Given the description of an element on the screen output the (x, y) to click on. 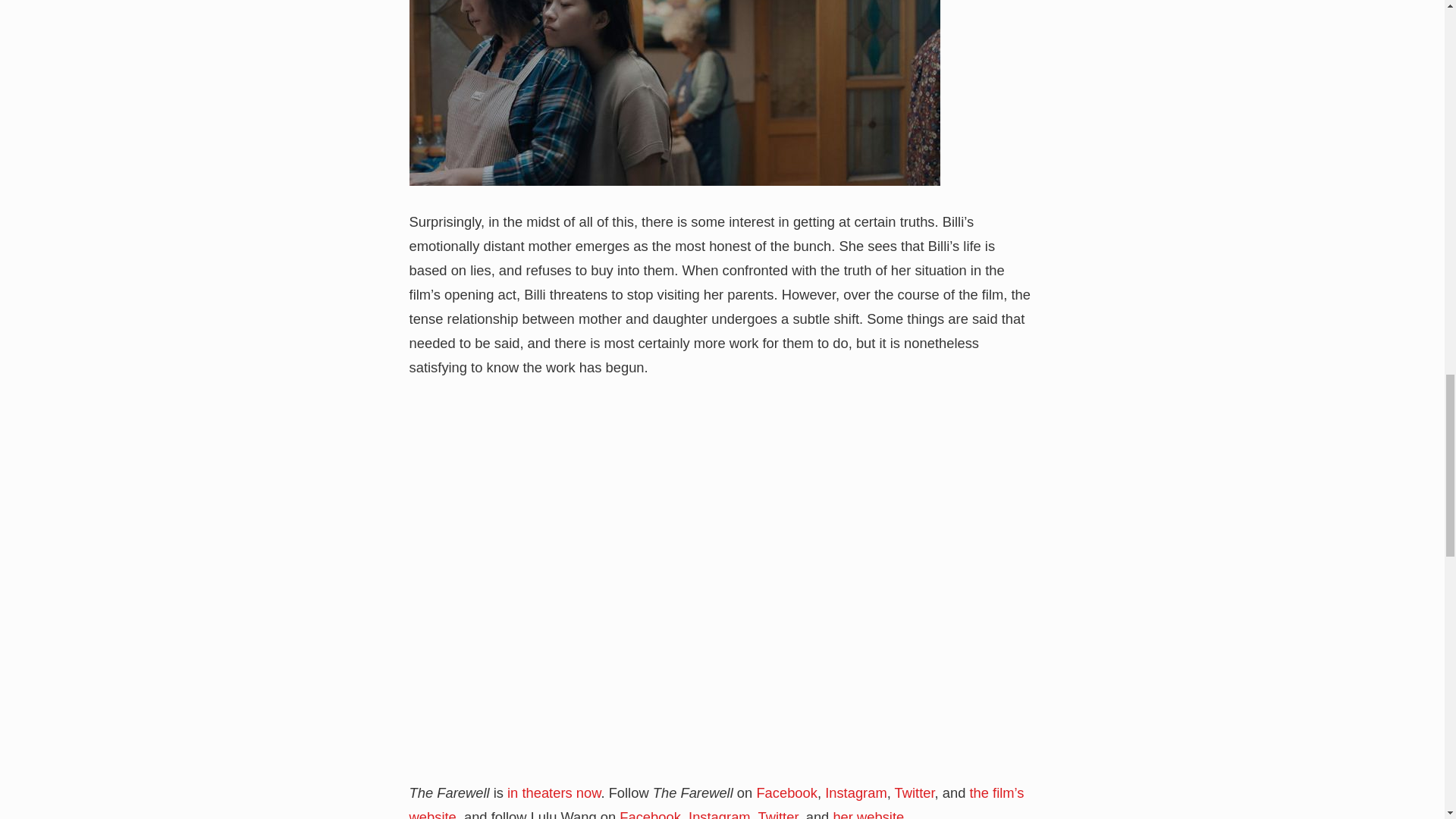
her website (868, 814)
Facebook (650, 814)
Twitter (914, 792)
in theaters now (552, 792)
Twitter (777, 814)
Facebook (785, 792)
Instagram (719, 814)
Instagram (855, 792)
